Given the description of an element on the screen output the (x, y) to click on. 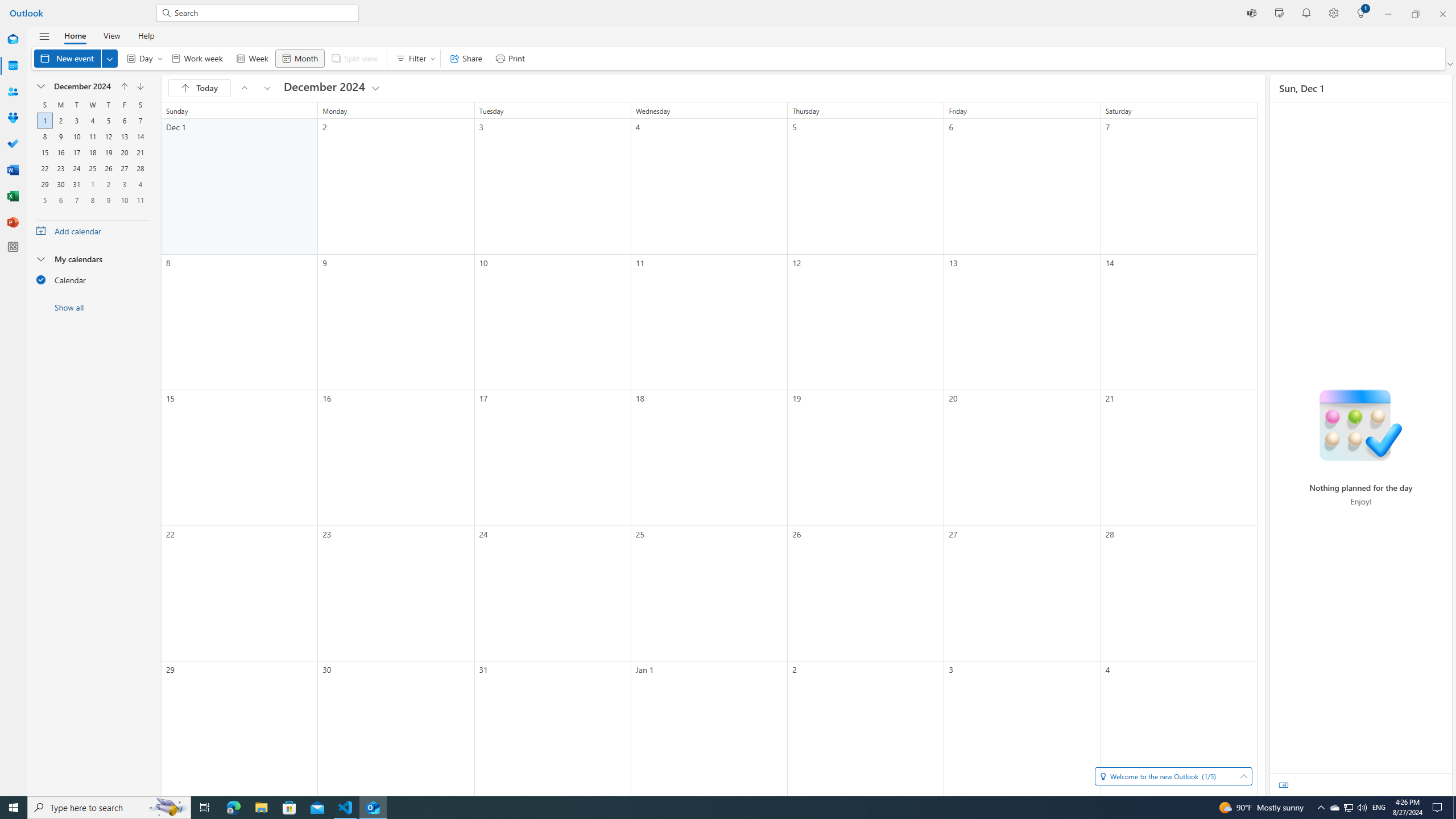
Search highlights icon opens search home window (167, 807)
System (6, 6)
Notification Chevron (1320, 807)
21, December, 2024 (140, 152)
14, December, 2024 (140, 136)
4, January, 2025 (140, 184)
Wednesday (92, 104)
1, January, 2025 (92, 183)
29, December, 2024 (44, 184)
Thursday (108, 104)
12, December, 2024 (108, 136)
Hide navigation pane (44, 36)
Q2790: 100% (1361, 807)
8, January, 2025 (92, 200)
